Given the description of an element on the screen output the (x, y) to click on. 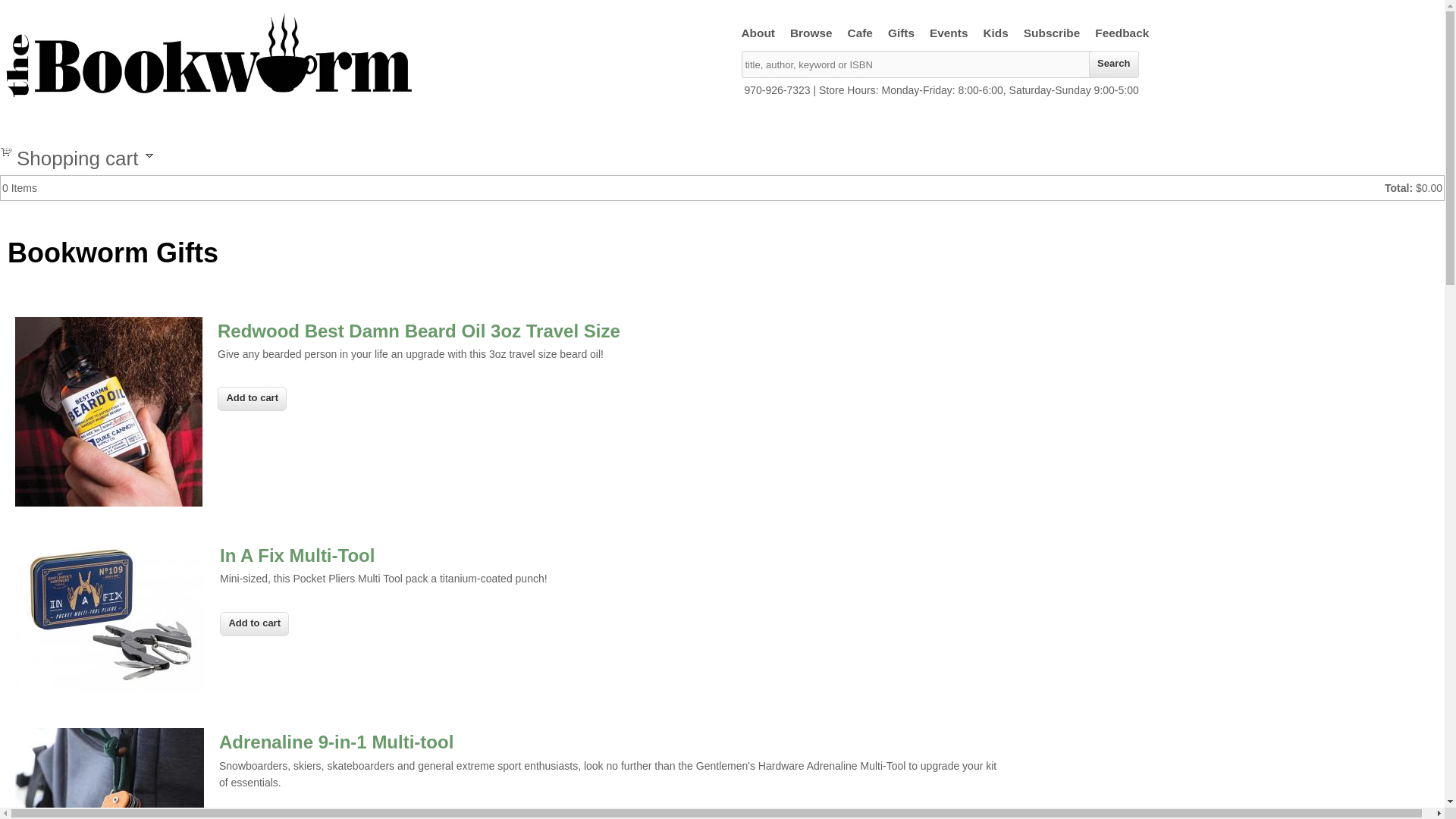
Kids (994, 33)
Subscribe (1051, 33)
Home (207, 96)
Browse (811, 33)
View your shopping cart. (5, 150)
In A Fix Multi-Tool (296, 555)
Add to cart (253, 817)
Search (1113, 63)
Adrenaline 9-in-1 Multi-tool (335, 742)
Redwood Best Damn Beard Oil 3oz Travel Size (418, 331)
